Given the description of an element on the screen output the (x, y) to click on. 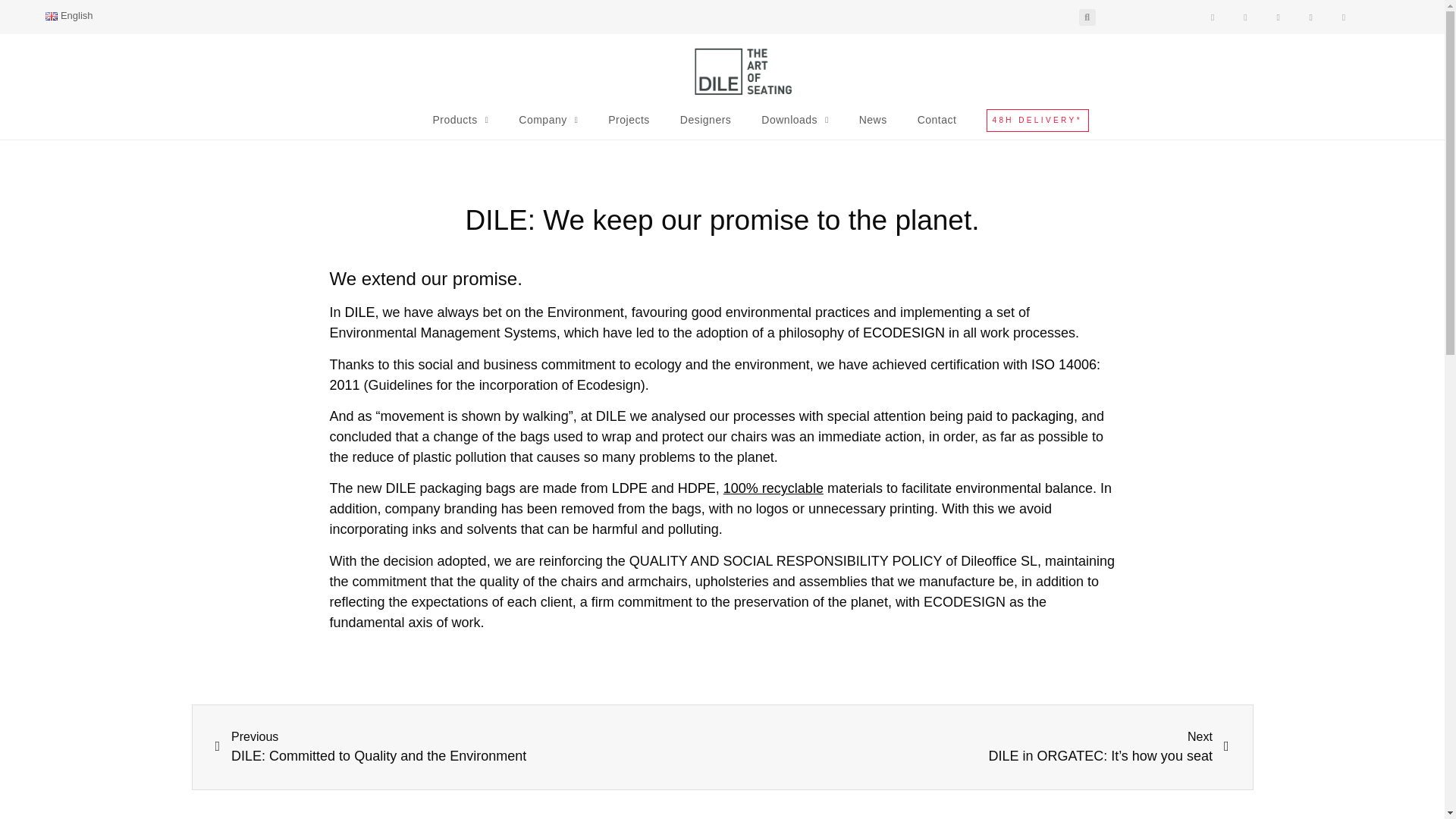
English (68, 15)
Designers (705, 123)
Downloads (794, 123)
Company (547, 123)
Products (460, 123)
Projects (628, 123)
Contact (937, 123)
News (873, 123)
